Given the description of an element on the screen output the (x, y) to click on. 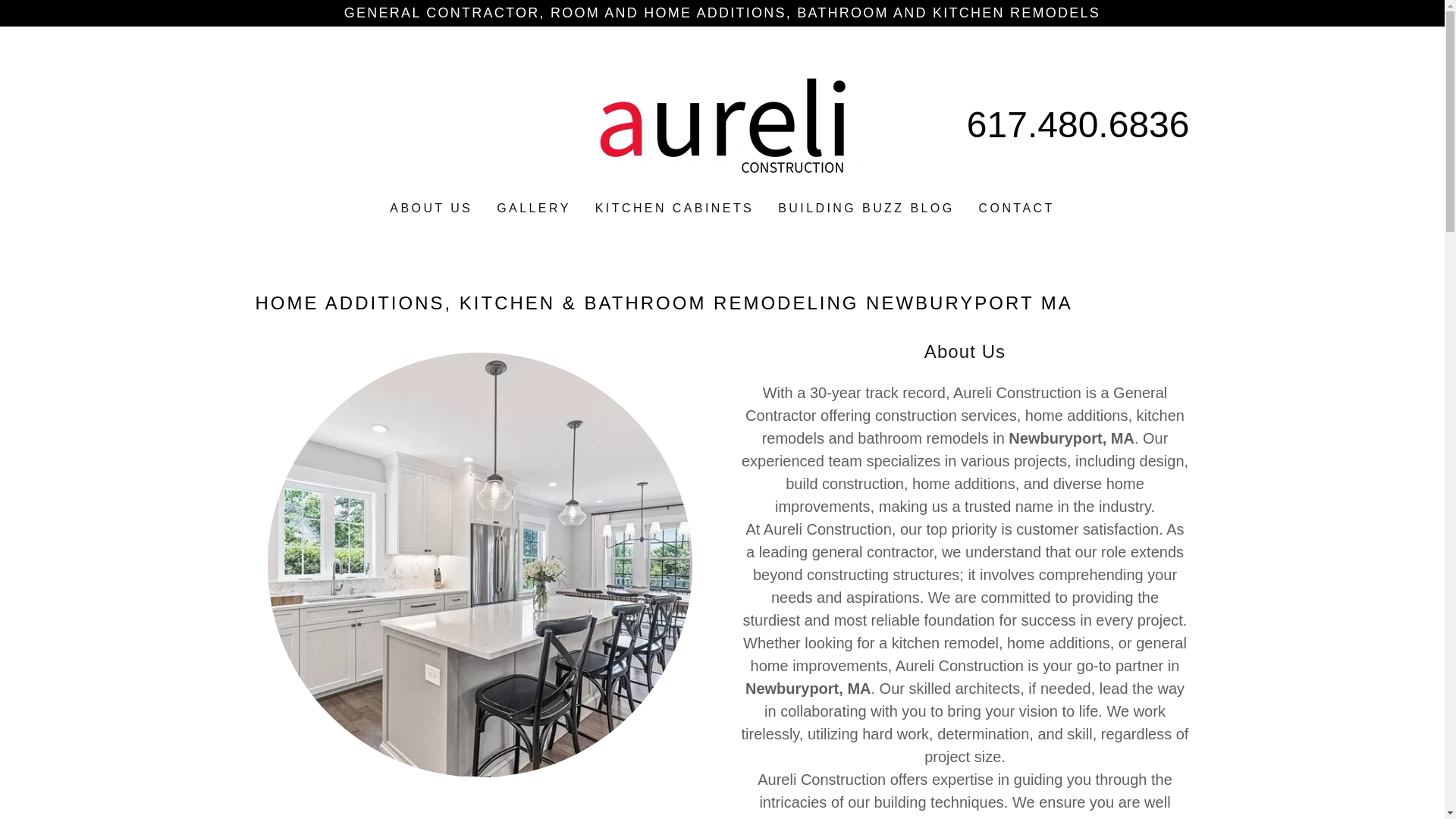
ABOUT US (431, 207)
617.480.6836 (1077, 124)
BUILDING BUZZ BLOG (865, 207)
CONTACT (1016, 207)
KITCHEN CABINETS (674, 207)
GALLERY (533, 207)
